Given the description of an element on the screen output the (x, y) to click on. 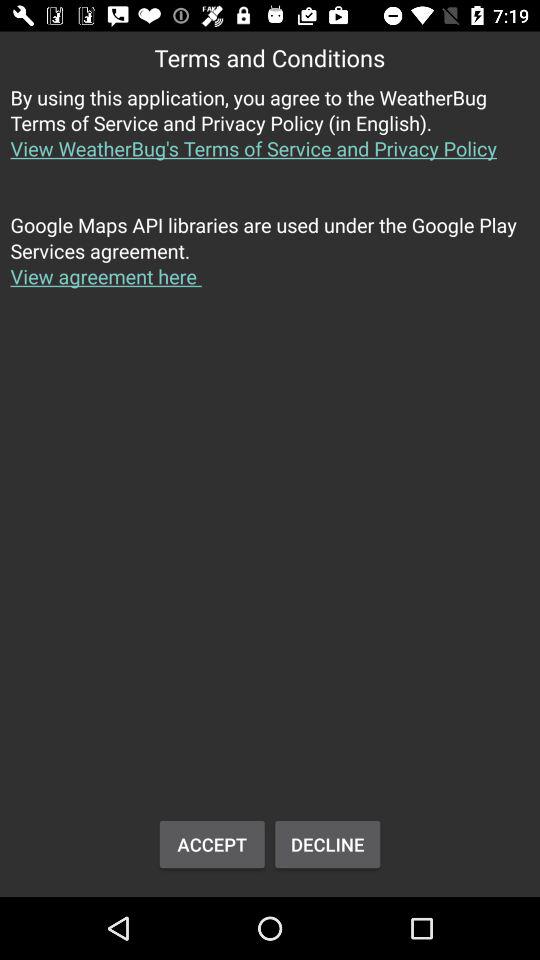
choose google maps api item (269, 262)
